Given the description of an element on the screen output the (x, y) to click on. 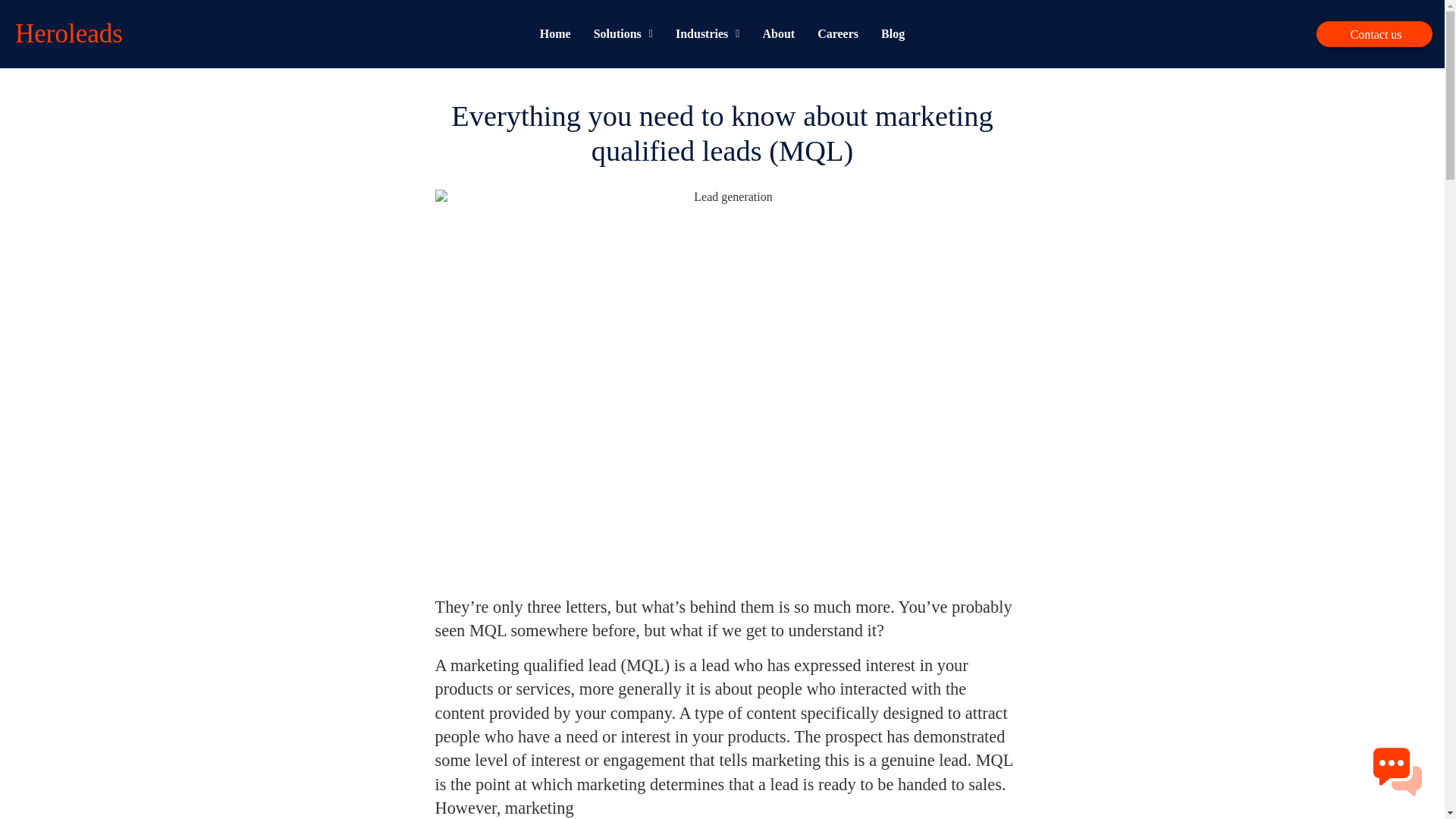
Home (555, 33)
Solutions (622, 33)
Careers (837, 33)
Blog (892, 33)
Industries (706, 33)
Contact us (1374, 33)
Heroleads (68, 33)
About (777, 33)
